Given the description of an element on the screen output the (x, y) to click on. 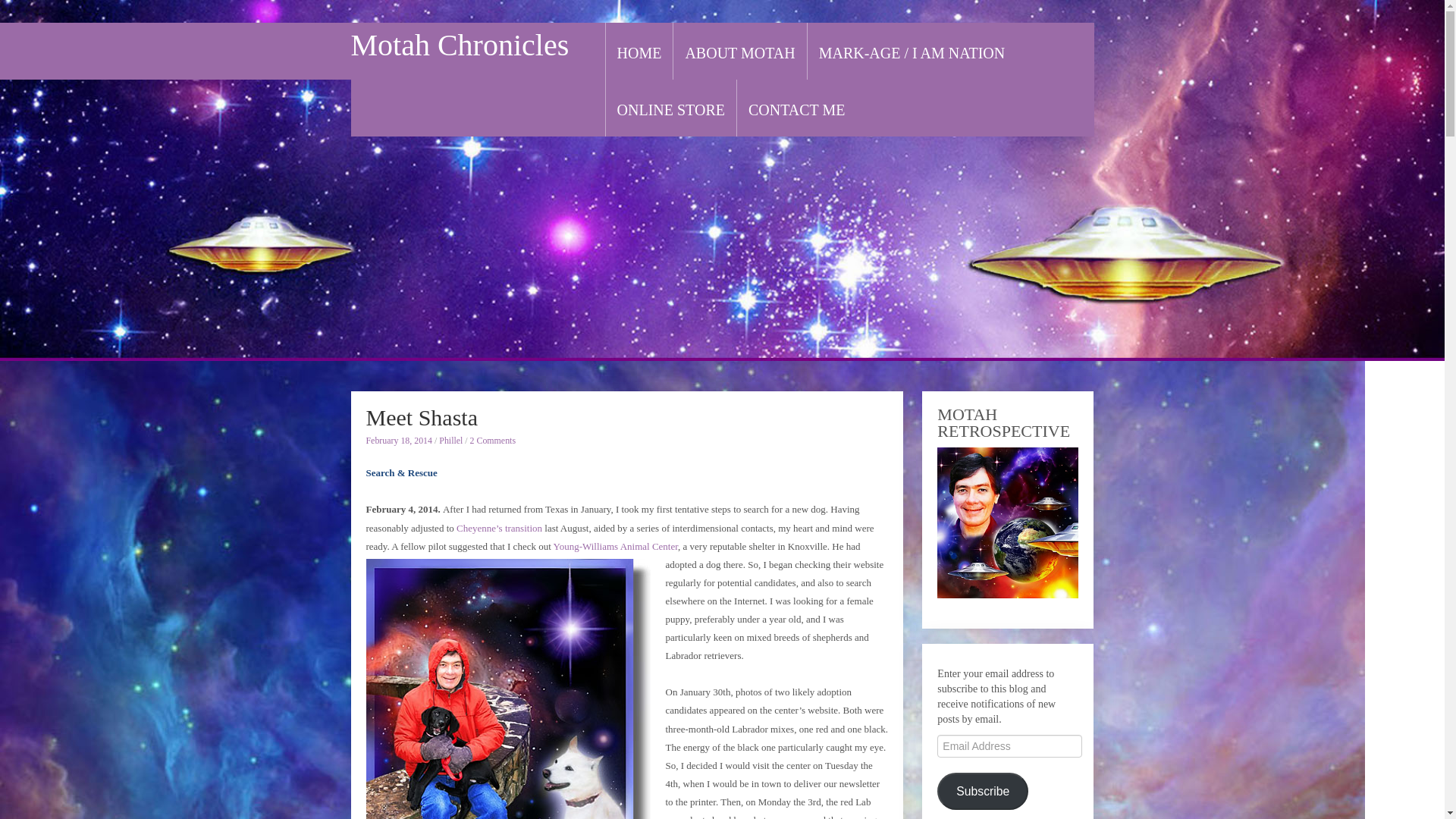
CONTACT ME (796, 109)
ABOUT MOTAH (739, 52)
February 18, 2014 (398, 439)
Young-Williams Animal Center (615, 546)
Permalink to Meet Shasta (421, 416)
View all posts by Phillel (451, 439)
ONLINE STORE (671, 109)
Phillel (451, 439)
Meet Shasta (421, 416)
Motah Chronicles (459, 44)
10:13 pm (398, 439)
2 Comments (492, 439)
HOME (639, 52)
Motah Chronicles (459, 44)
